Given the description of an element on the screen output the (x, y) to click on. 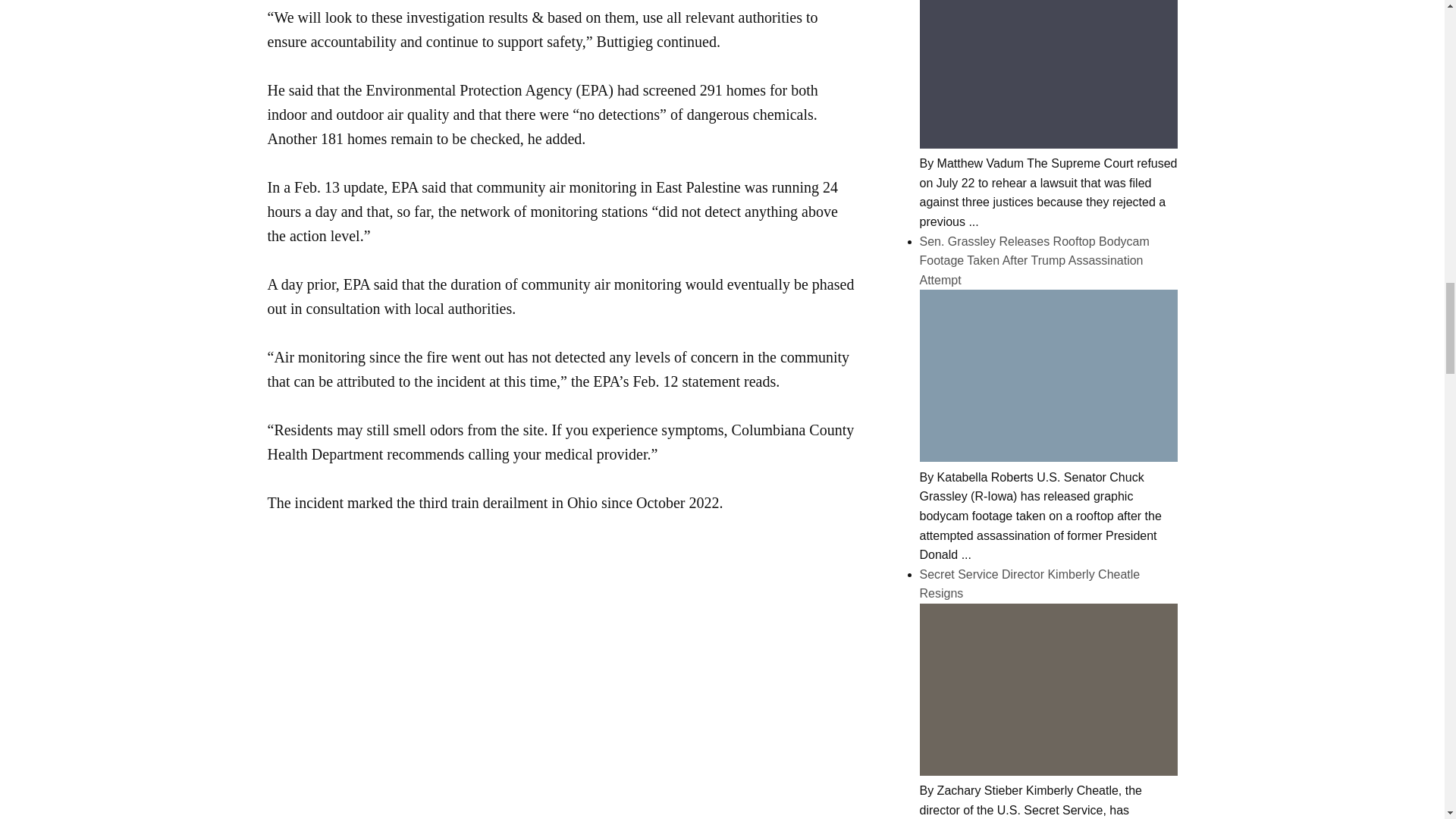
Secret Service Director Kimberly Cheatle Resigns (1047, 771)
